Given the description of an element on the screen output the (x, y) to click on. 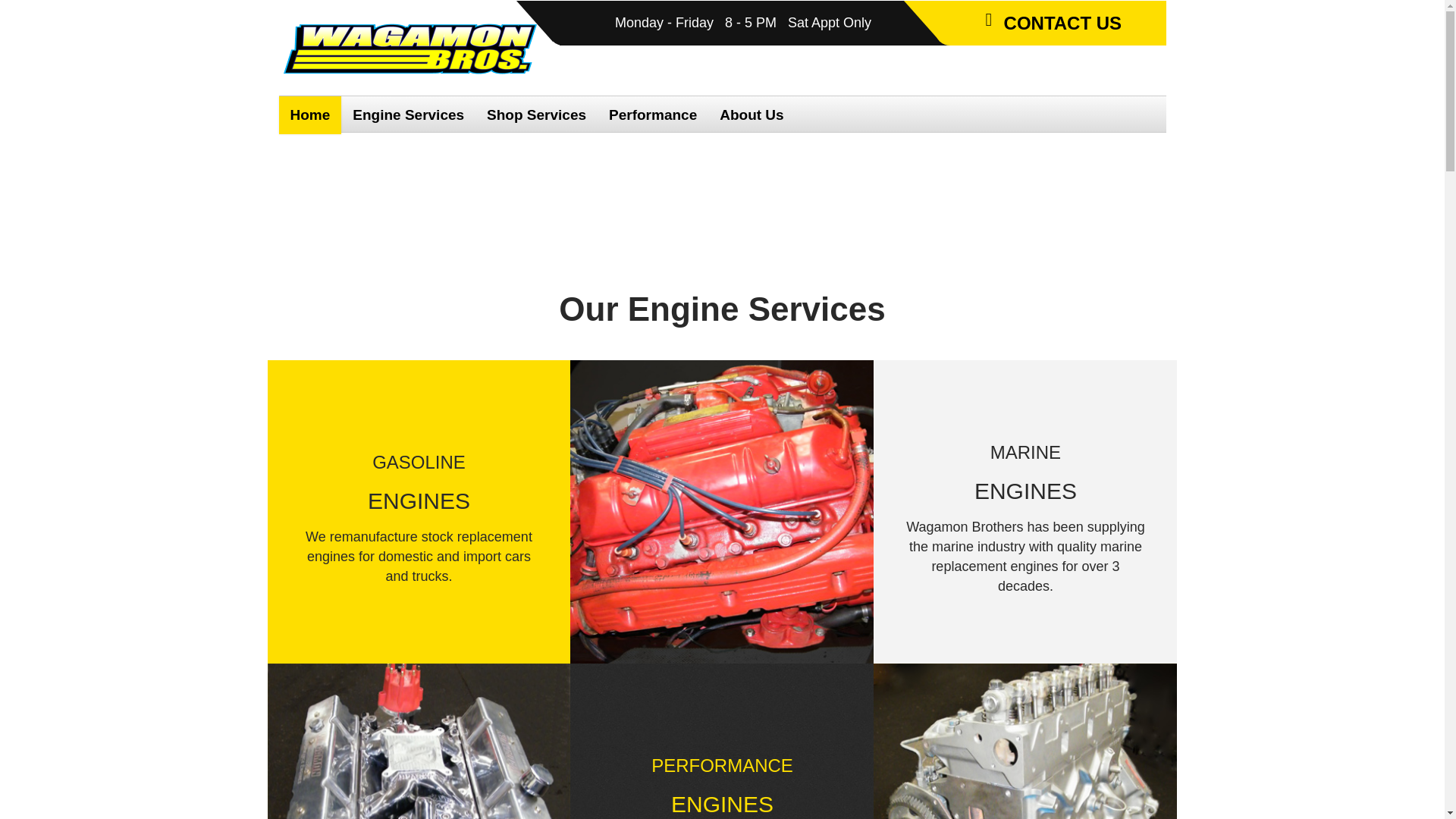
CONTACT US (1050, 22)
About Us (750, 115)
Engine Services (408, 115)
Performance (651, 115)
Shop Services (536, 115)
Home (310, 115)
